Given the description of an element on the screen output the (x, y) to click on. 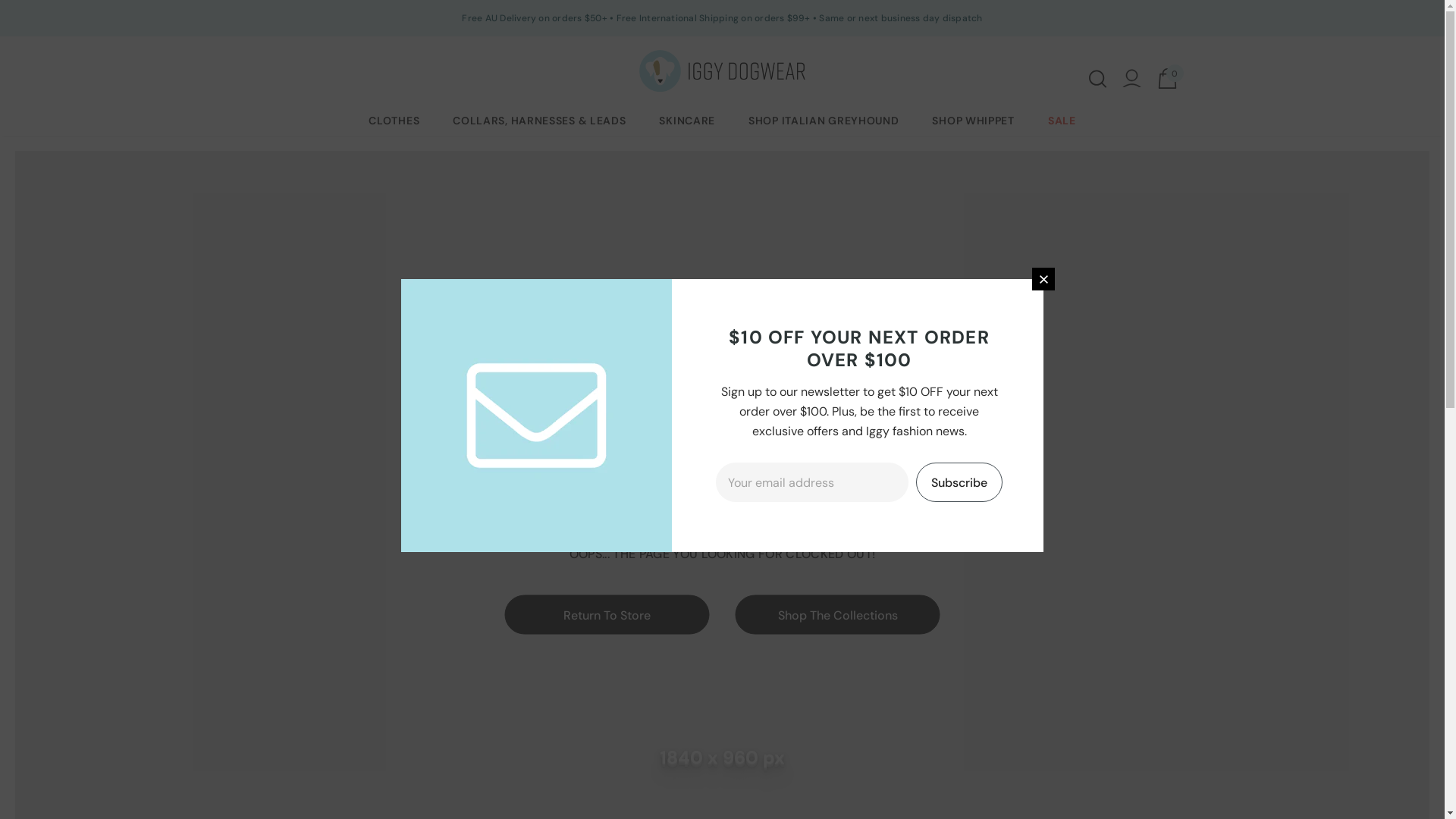
Subscribe Element type: text (959, 482)
Logo Element type: hover (721, 70)
SHOP ITALIAN GREYHOUND Element type: text (823, 120)
Same or next business day dispatch Element type: text (900, 18)
SKINCARE Element type: text (686, 120)
Close Element type: hover (1043, 278)
SALE Element type: text (1062, 120)
SHOP WHIPPET Element type: text (972, 120)
COLLARS, HARNESSES & LEADS Element type: text (538, 120)
Return To Store Element type: text (607, 613)
CLOTHES Element type: text (393, 120)
0 Element type: text (1167, 78)
Search Icon Element type: hover (1097, 78)
Free AU Delivery on orders $50+ Element type: text (533, 18)
Shop The Collections Element type: text (837, 613)
Free International Shipping on orders $99+ Element type: text (713, 18)
